Given the description of an element on the screen output the (x, y) to click on. 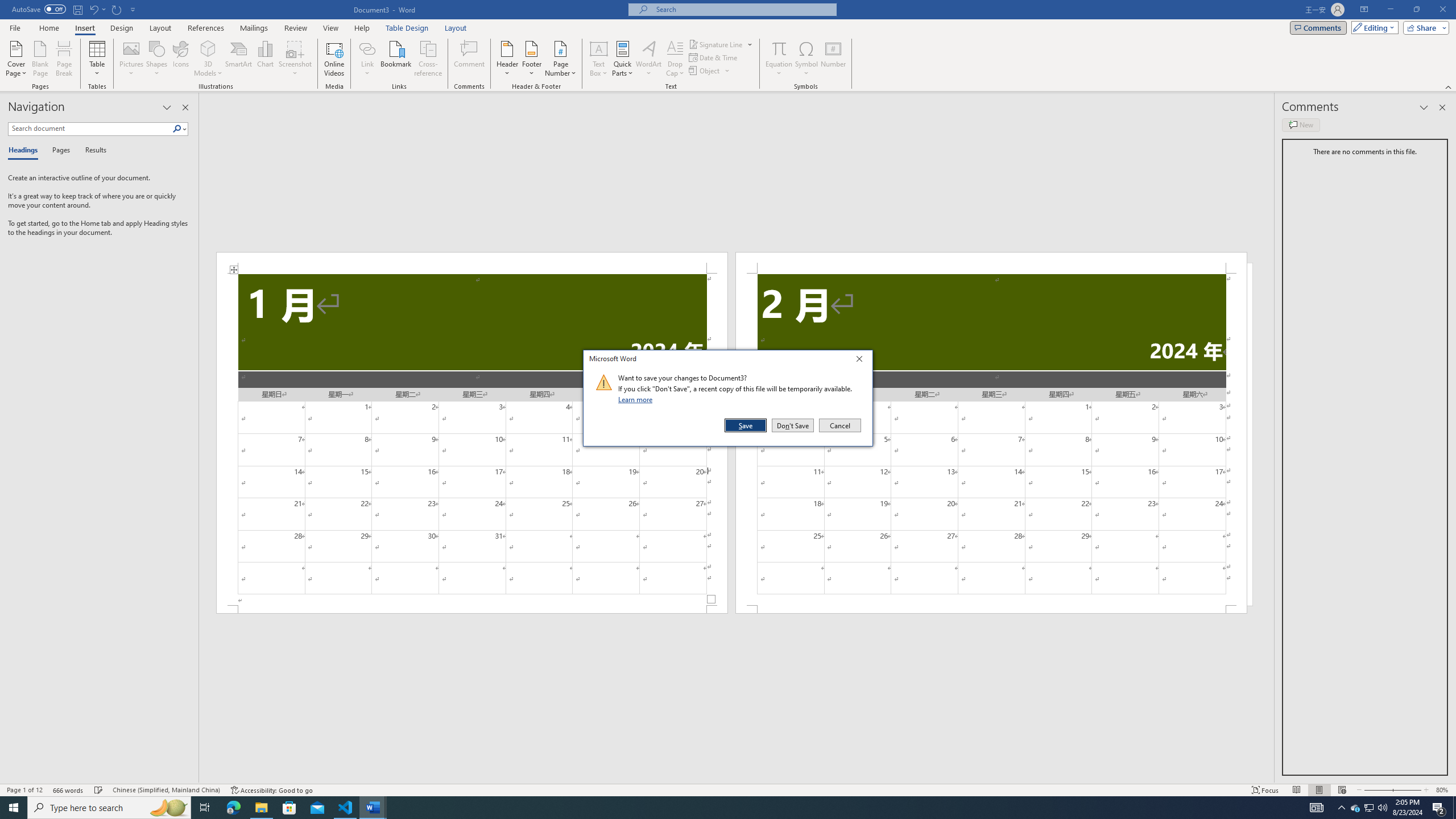
User Promoted Notification Area (1368, 807)
Equation (778, 48)
Header -Section 2- (991, 263)
Visual Studio Code - 1 running window (345, 807)
Show desktop (1454, 807)
Equation (778, 58)
Start (13, 807)
File Explorer - 1 running window (261, 807)
